Given the description of an element on the screen output the (x, y) to click on. 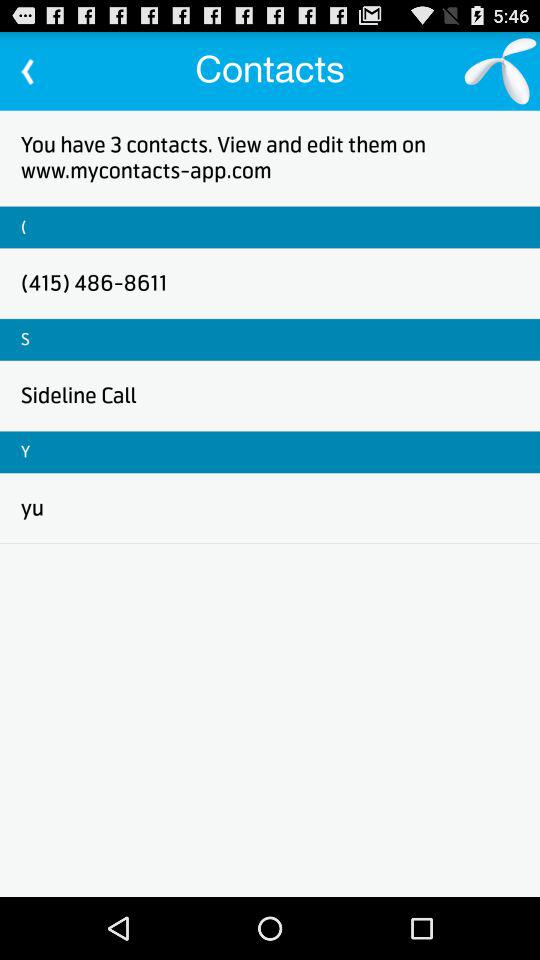
press icon below (415) 486-8611 icon (25, 339)
